Given the description of an element on the screen output the (x, y) to click on. 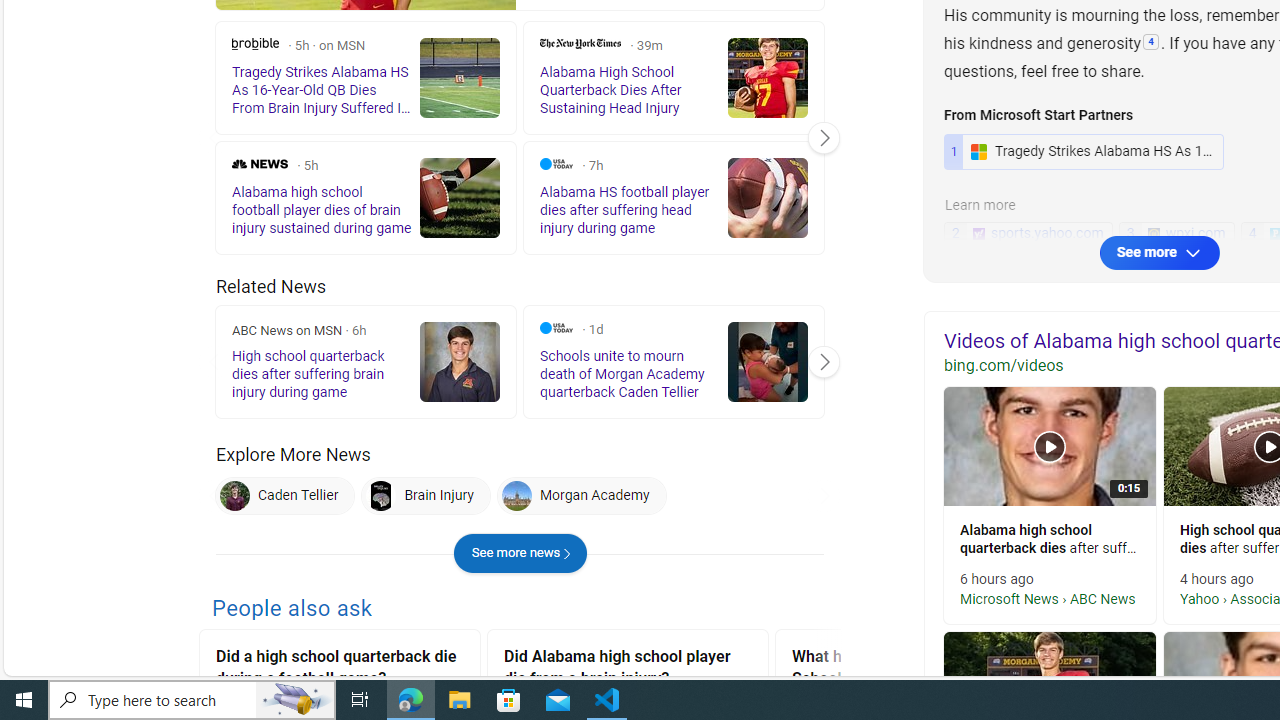
Brain Injury (426, 496)
Related News (271, 286)
Caden Tellier Caden Tellier (285, 496)
4:  (1151, 43)
Caden Tellier (285, 496)
Did Alabama high school player die from a brain injury? (628, 669)
Did a high school quarterback die during a football game? (339, 669)
Morgan Academy (516, 495)
